Given the description of an element on the screen output the (x, y) to click on. 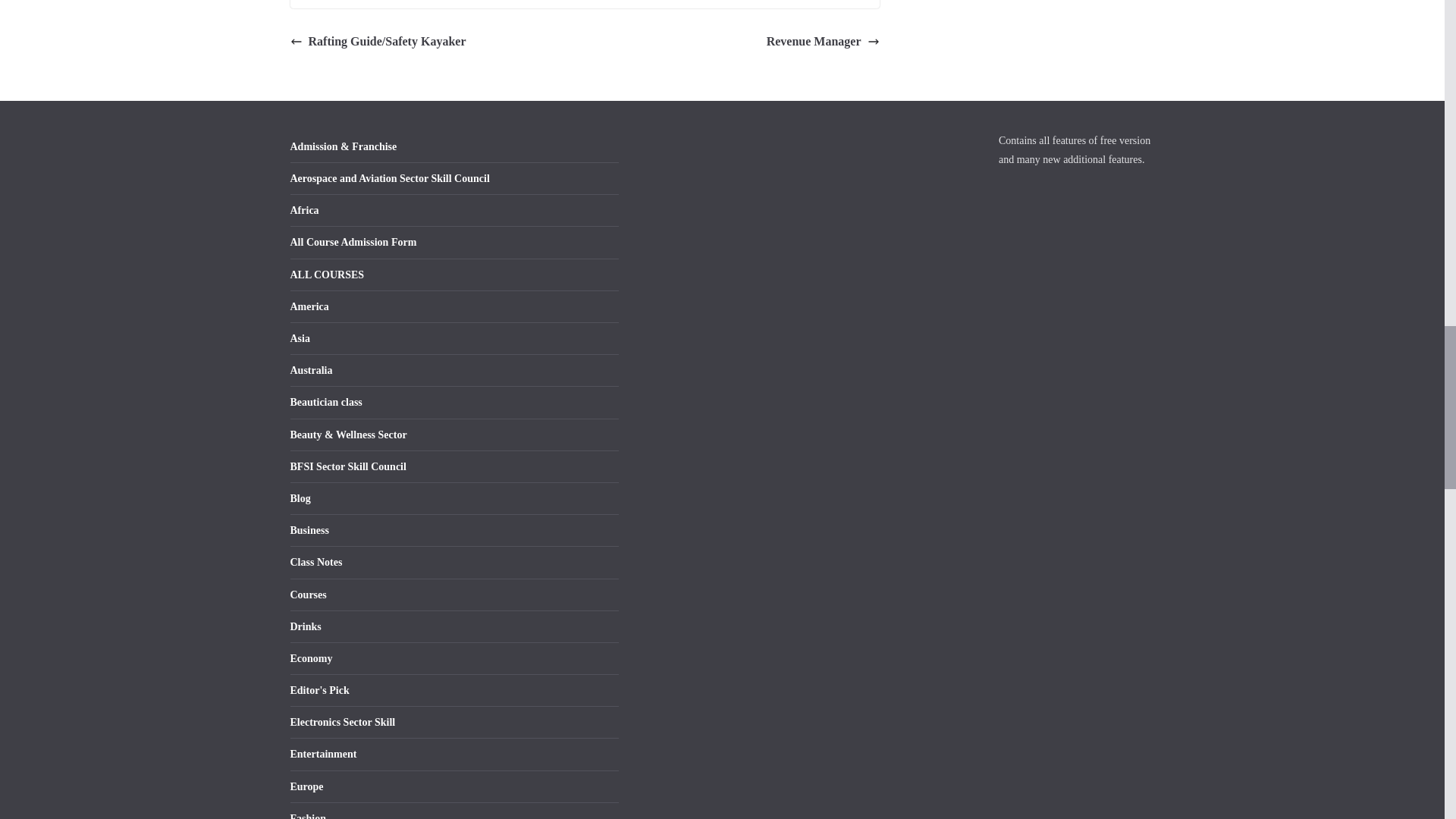
America (309, 306)
Aerospace and Aviation Sector Skill Council (389, 178)
ALL COURSES (326, 274)
Revenue Manager (823, 42)
Asia (298, 337)
All Course Admission Form (352, 242)
BFSI Sector Skill Council (347, 466)
Africa (303, 210)
Australia (310, 369)
Beautician class (325, 401)
Blog (299, 498)
